Given the description of an element on the screen output the (x, y) to click on. 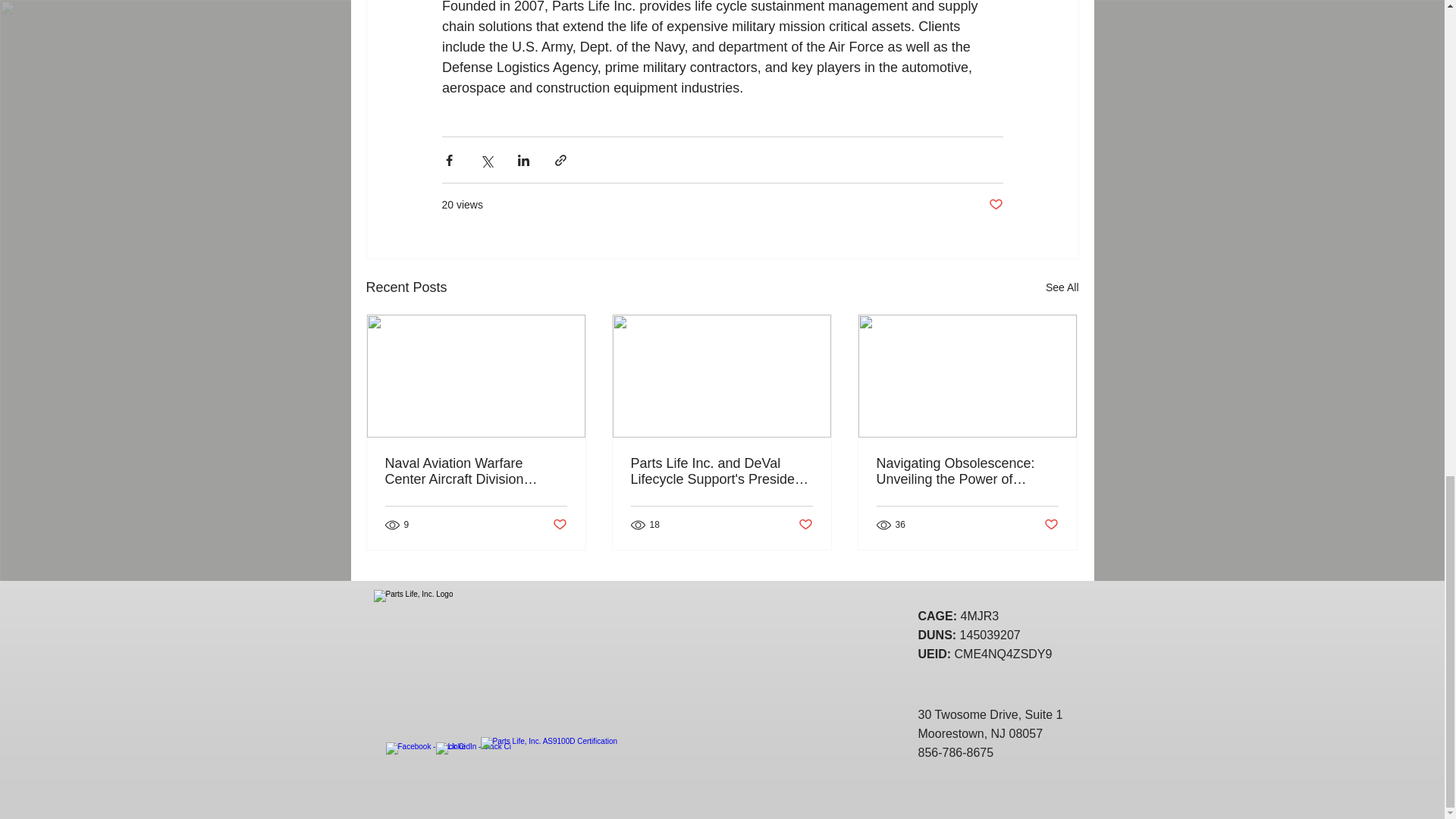
See All (1061, 287)
Post not marked as liked (995, 204)
Post not marked as liked (558, 524)
